Given the description of an element on the screen output the (x, y) to click on. 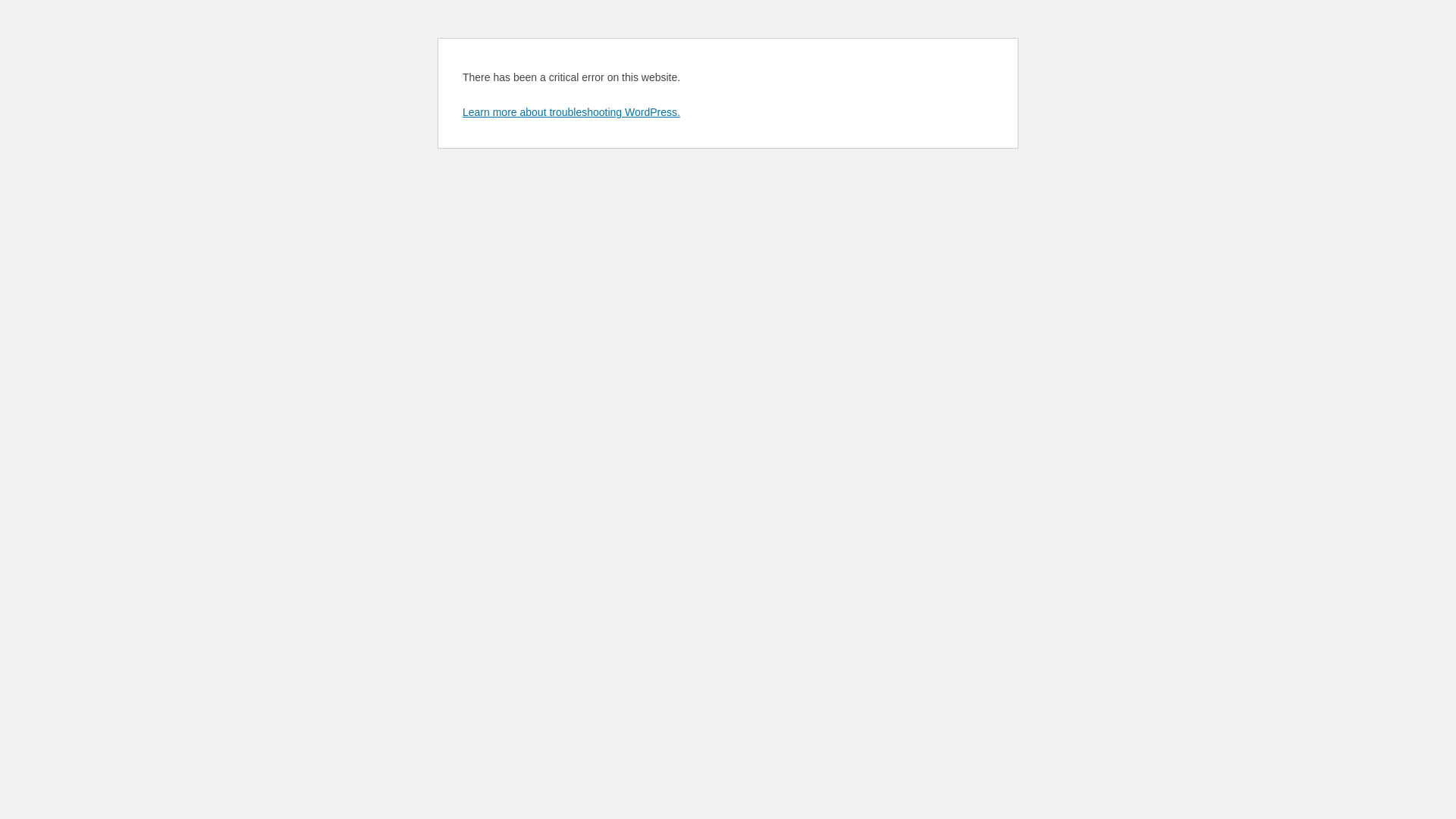
Learn more about troubleshooting WordPress. Element type: text (571, 112)
